Given the description of an element on the screen output the (x, y) to click on. 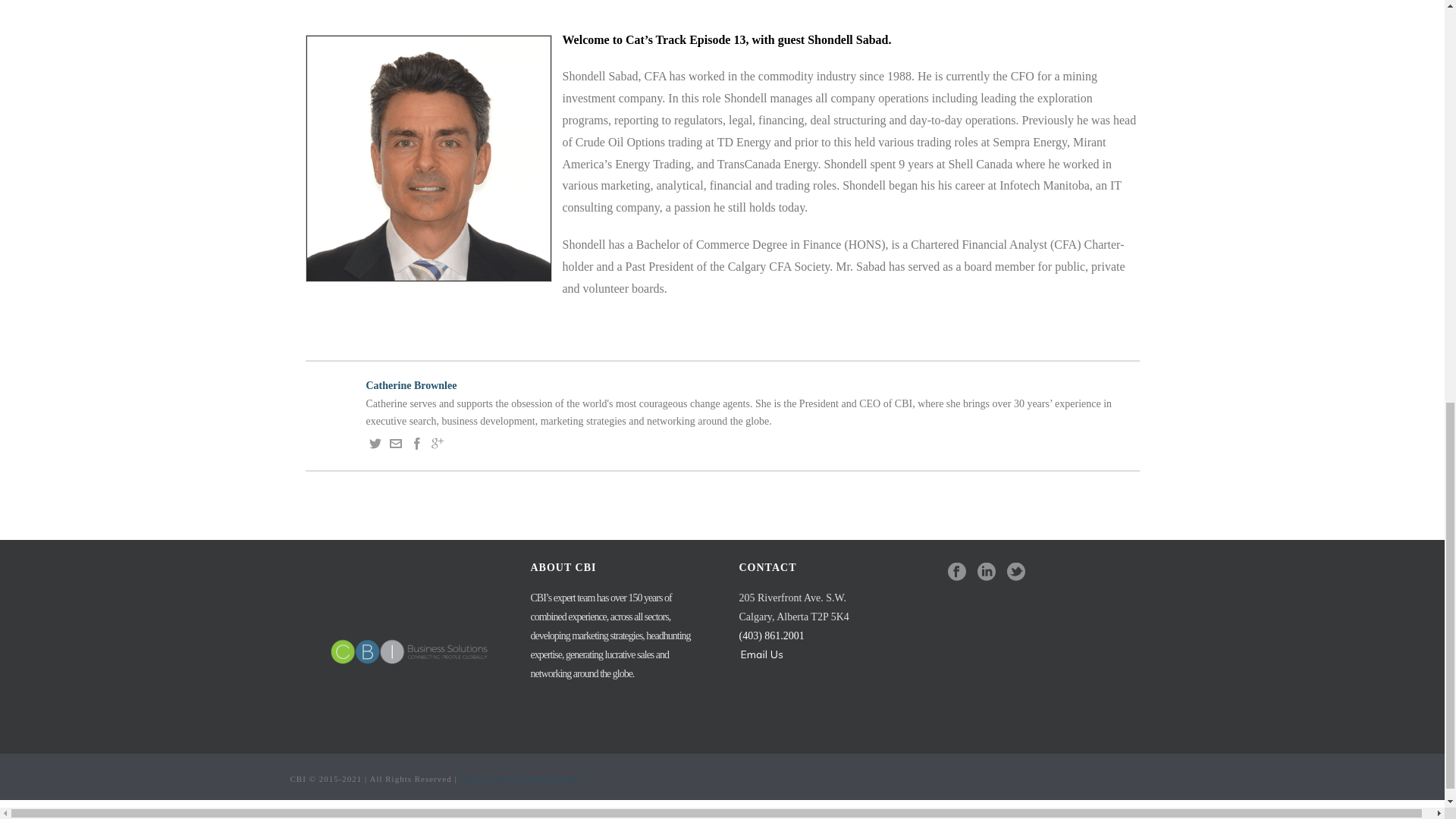
Follow me on Facebook (416, 446)
Follow me on Twitter (374, 446)
Catherine Brownlee (721, 384)
Get in touch with me via email (395, 446)
Calgary Website Management (519, 777)
Join us Online facebook (956, 572)
